Given the description of an element on the screen output the (x, y) to click on. 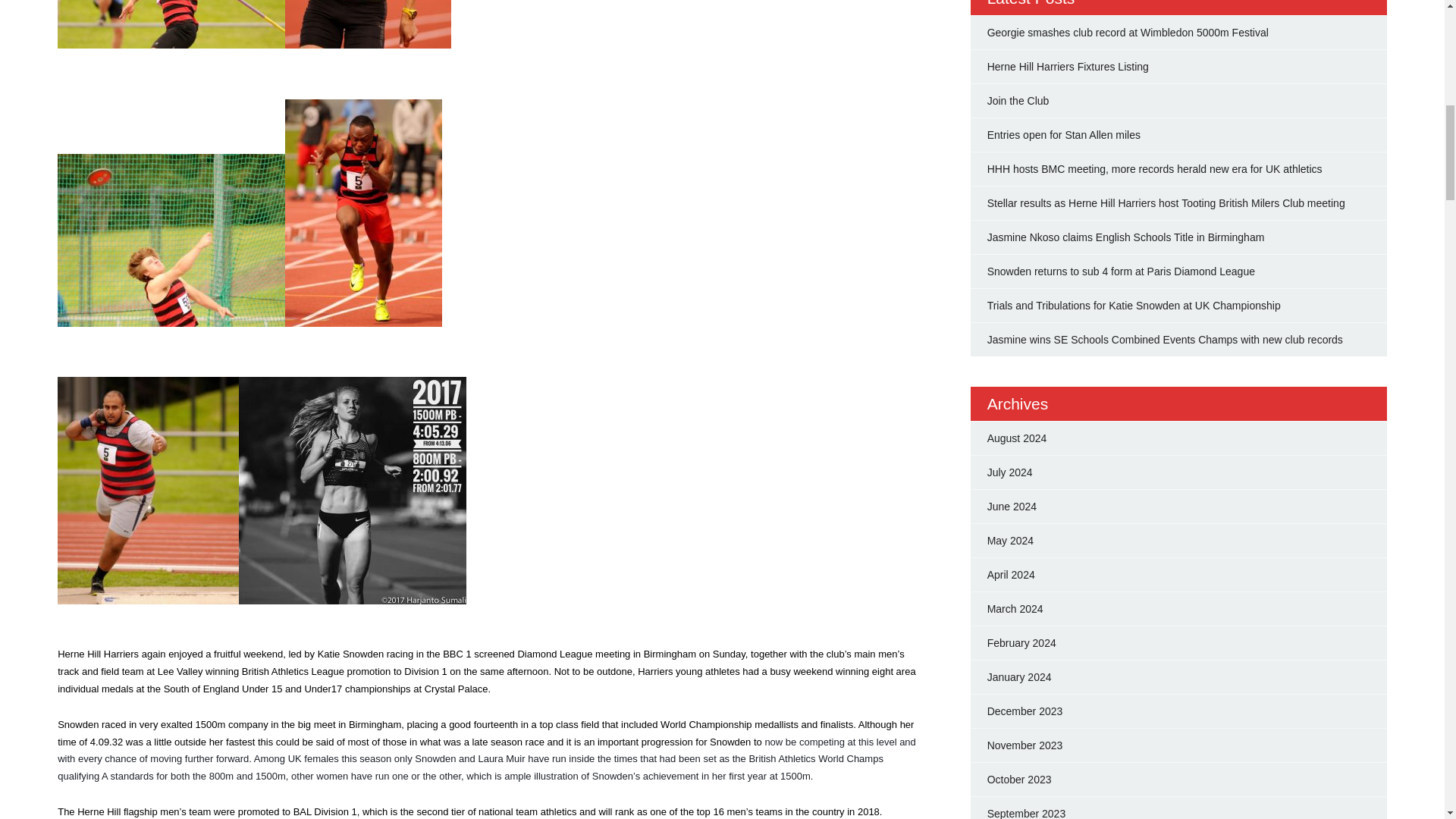
Look Entries open for Stan Allen miles (1063, 134)
Look Georgie smashes club record at Wimbledon 5000m Festival (1127, 32)
Look Herne Hill Harriers Fixtures Listing (1067, 66)
Look Join the Club (1018, 101)
